Given the description of an element on the screen output the (x, y) to click on. 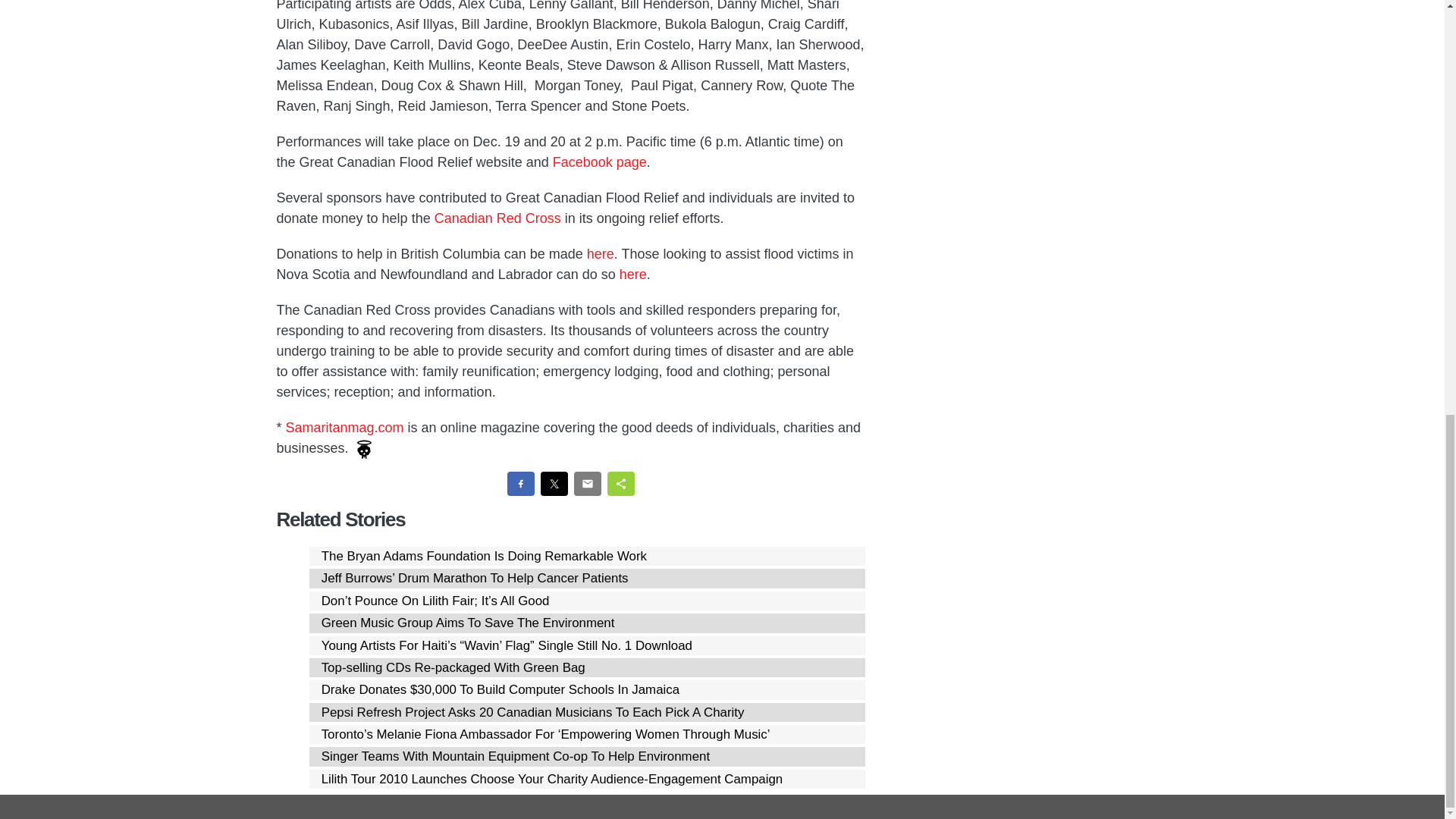
Top-selling CDs Re-packaged With Green Bag (453, 667)
Facebook page (599, 161)
Samaritanmag.com (344, 427)
here (600, 253)
Canadian Red Cross (496, 218)
The Bryan Adams Foundation Is Doing Remarkable Work (483, 555)
here (633, 273)
Green Music Group Aims To Save The Environment (467, 622)
